Given the description of an element on the screen output the (x, y) to click on. 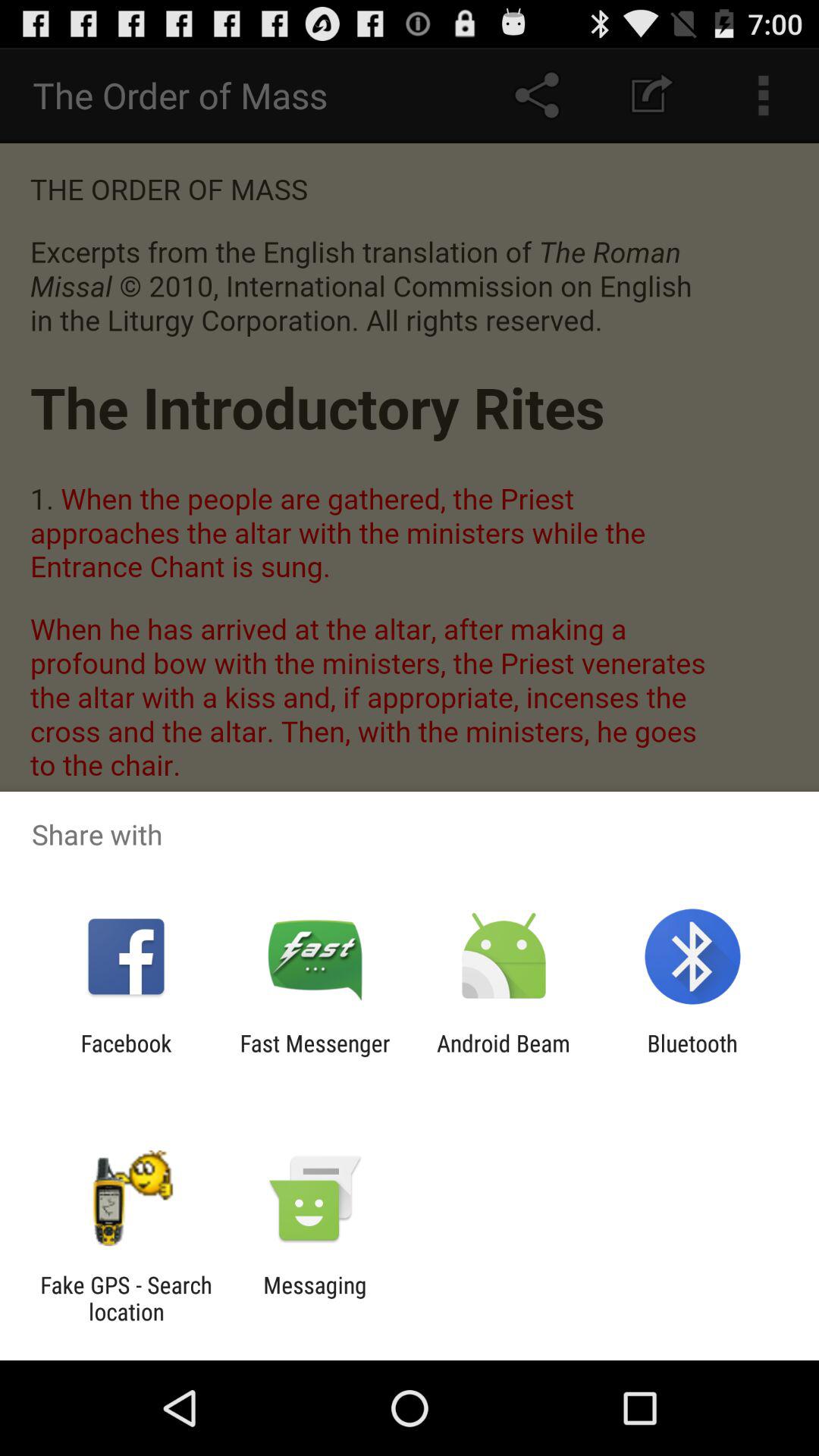
tap the item to the left of the android beam (315, 1056)
